Given the description of an element on the screen output the (x, y) to click on. 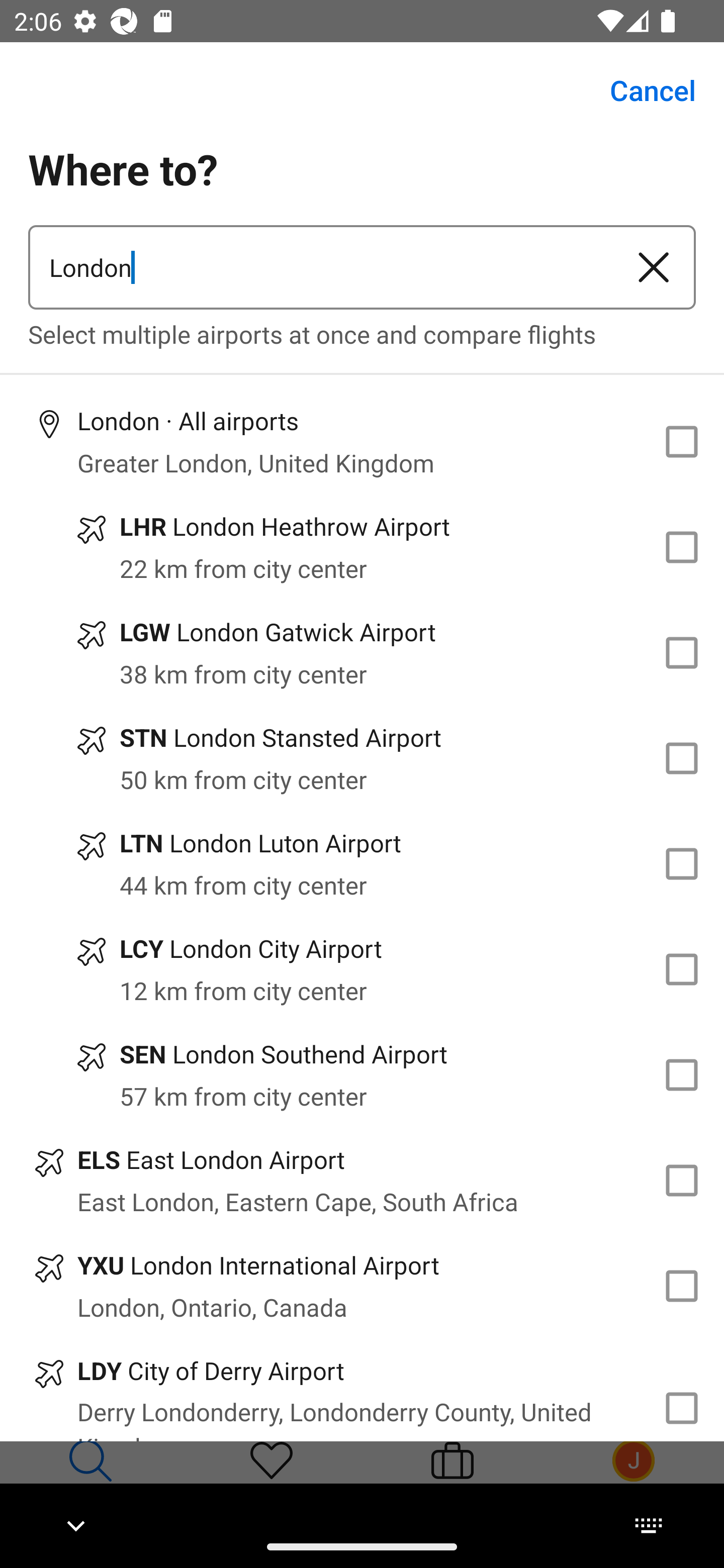
Cancel (641, 90)
London (319, 266)
Clear airport or city (653, 266)
LHR London Heathrow Airport 22 km from city center (362, 547)
LGW London Gatwick Airport 38 km from city center (362, 652)
STN London Stansted Airport 50 km from city center (362, 757)
LTN London Luton Airport 44 km from city center (362, 863)
LCY London City Airport 12 km from city center (362, 969)
SEN London Southend Airport 57 km from city center (362, 1074)
